Given the description of an element on the screen output the (x, y) to click on. 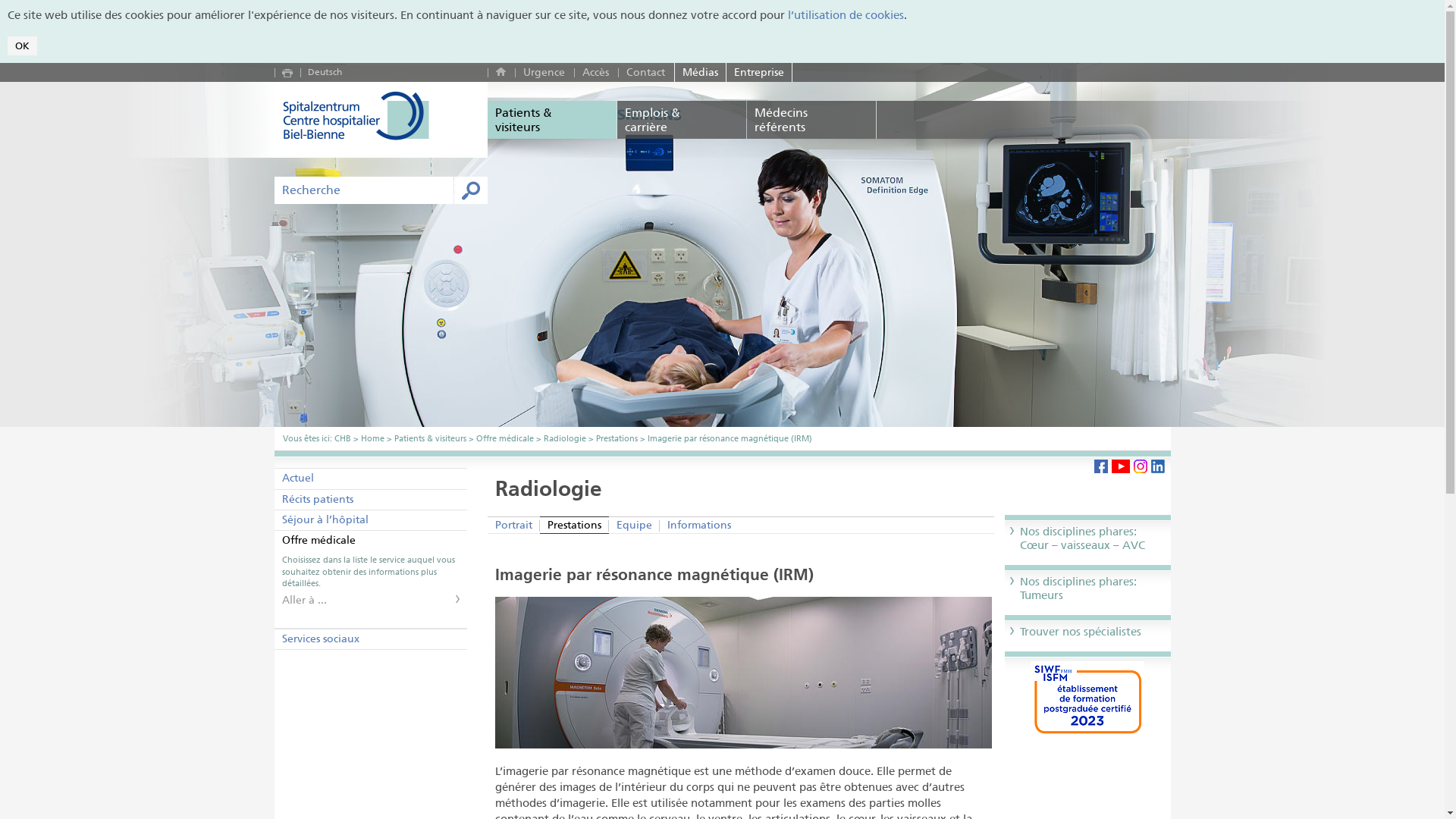
Equipe Element type: text (633, 525)
Informations Element type: text (698, 525)
Contact Element type: text (645, 72)
Prestations Element type: text (616, 438)
Home Element type: text (372, 438)
Services sociaux Element type: text (370, 638)
MTRA quer Element type: hover (743, 672)
Actuel Element type: text (370, 477)
Patients & visiteurs Element type: text (430, 438)
Patients & visiteurs Element type: text (551, 119)
Nos disciplines phares: Tumeurs Element type: text (1077, 588)
Urgence Element type: text (543, 72)
Prestations Element type: text (573, 524)
Deutsch Element type: text (324, 71)
Radiologie Element type: text (563, 438)
Portrait Element type: text (513, 525)
Entreprise Element type: text (758, 72)
OK Element type: text (22, 45)
